Given the description of an element on the screen output the (x, y) to click on. 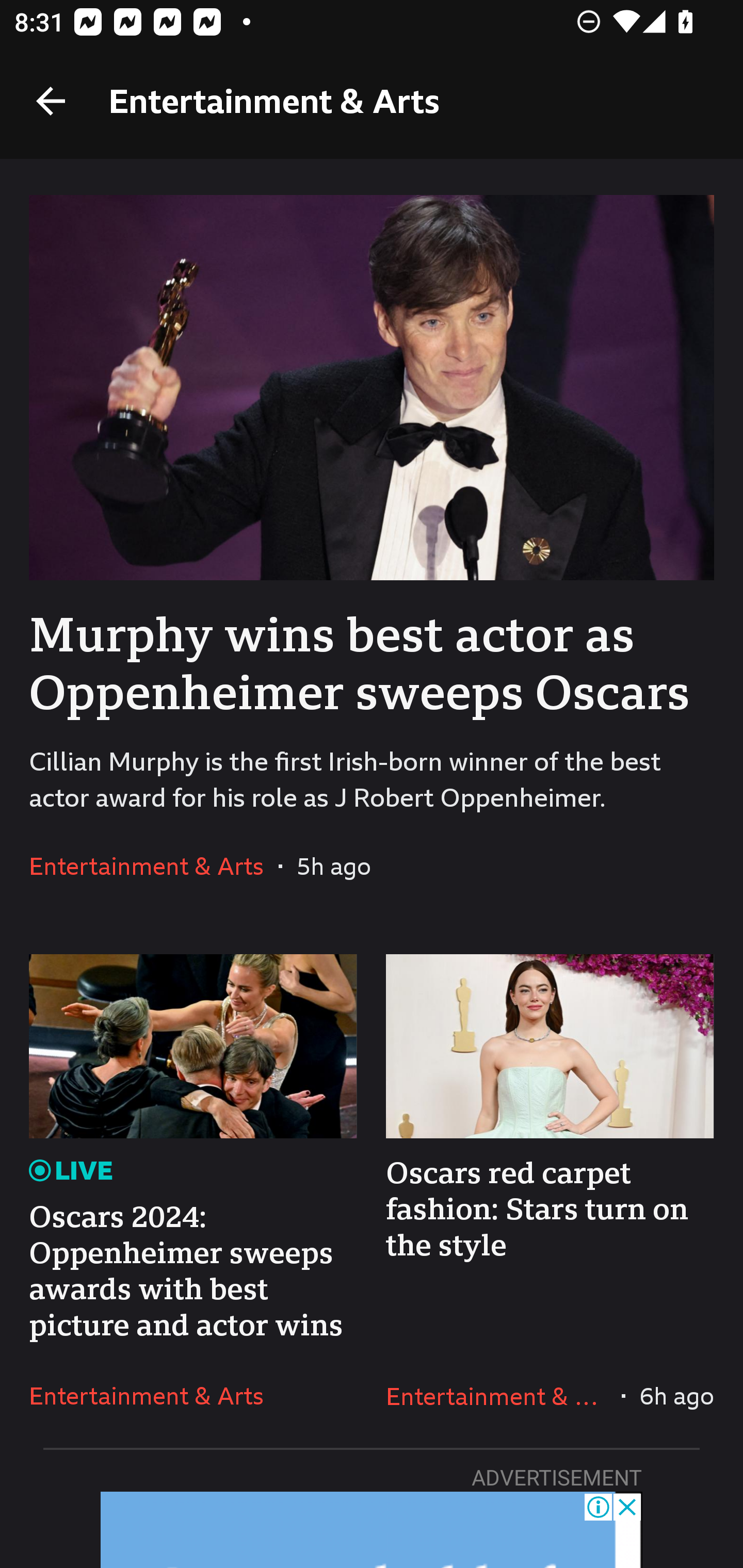
Back (50, 101)
